Given the description of an element on the screen output the (x, y) to click on. 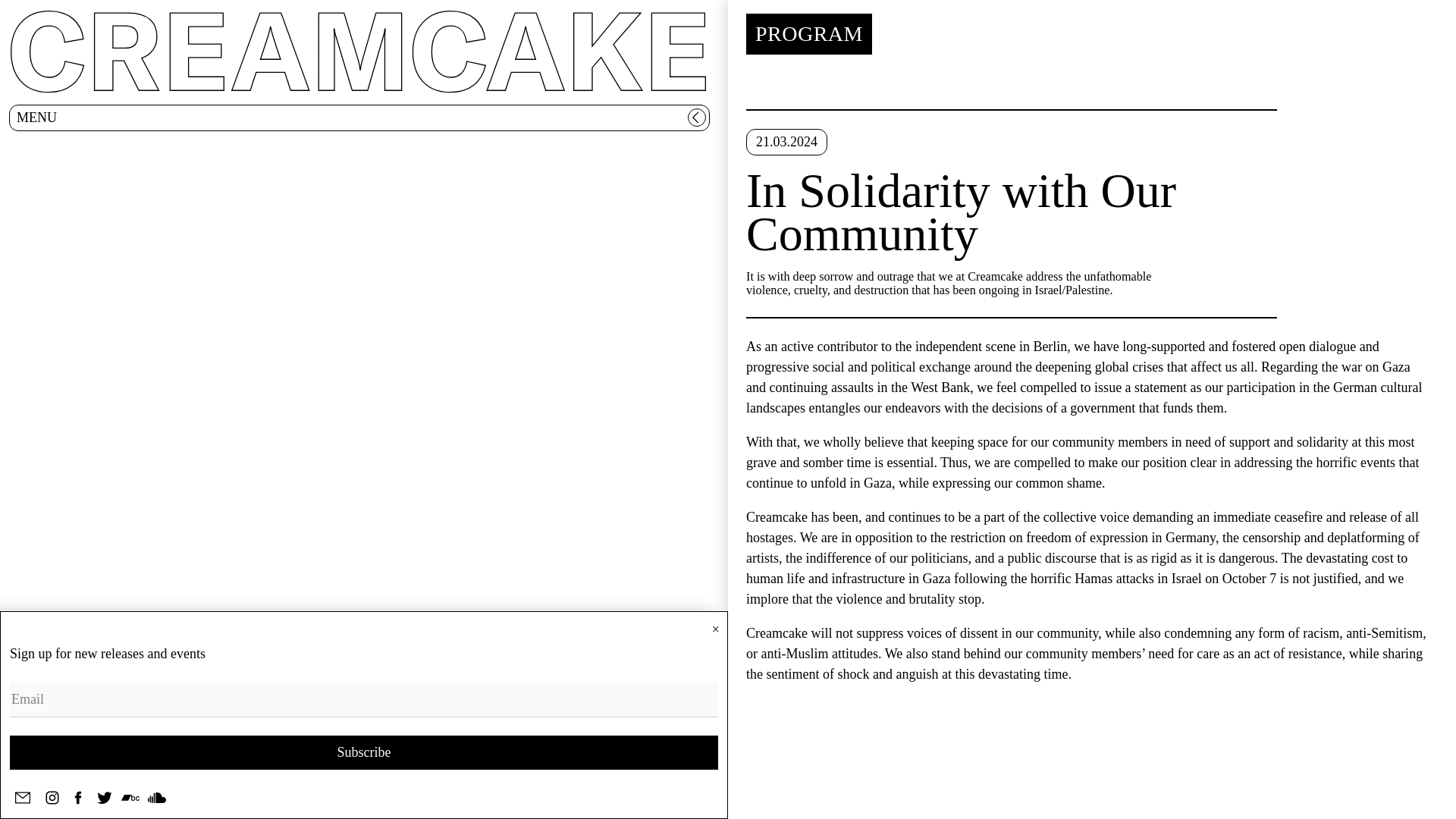
Subscribe (363, 752)
Subscribe (363, 752)
PROGRAM (808, 33)
